Given the description of an element on the screen output the (x, y) to click on. 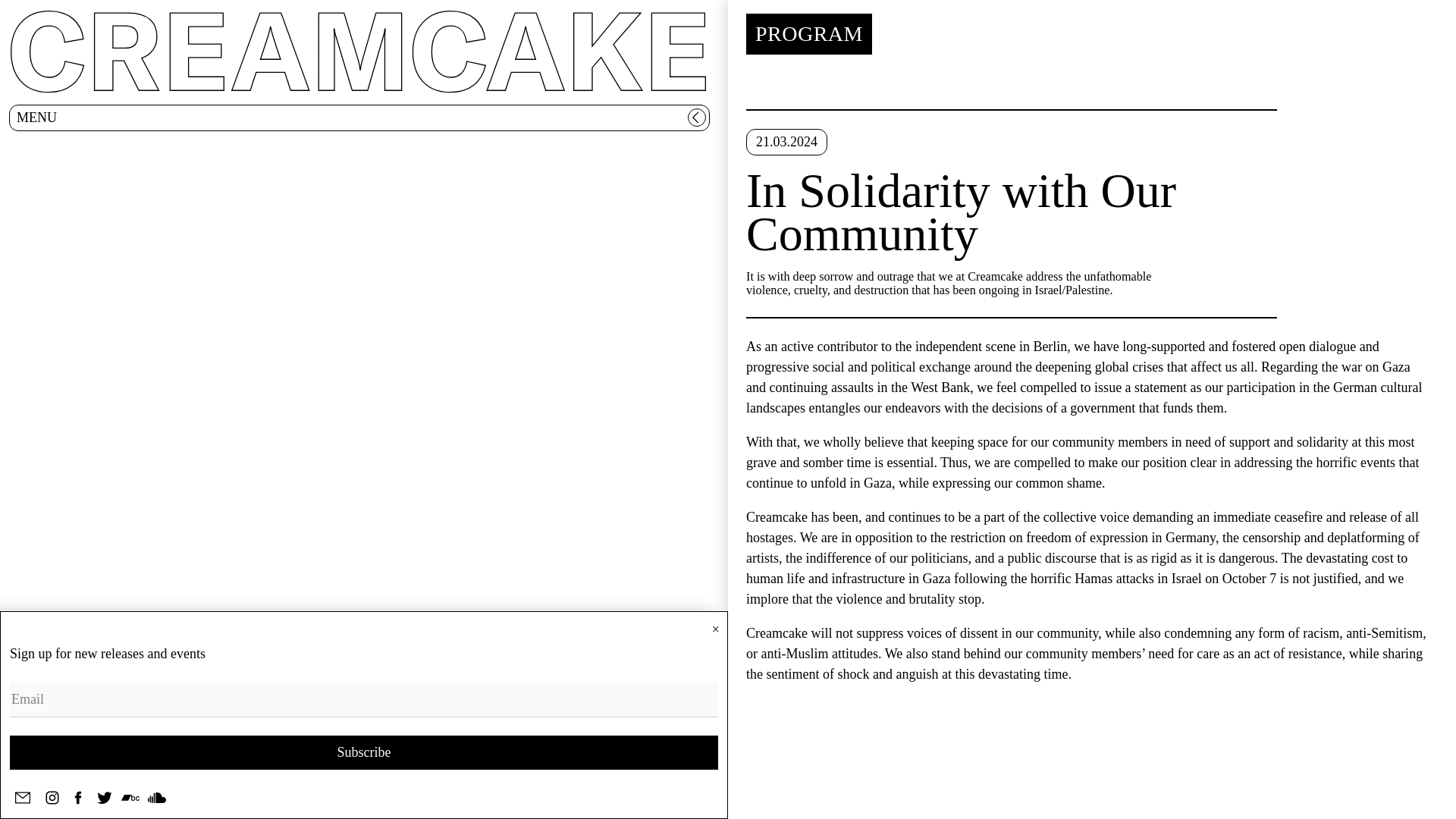
Subscribe (363, 752)
Subscribe (363, 752)
PROGRAM (808, 33)
